Given the description of an element on the screen output the (x, y) to click on. 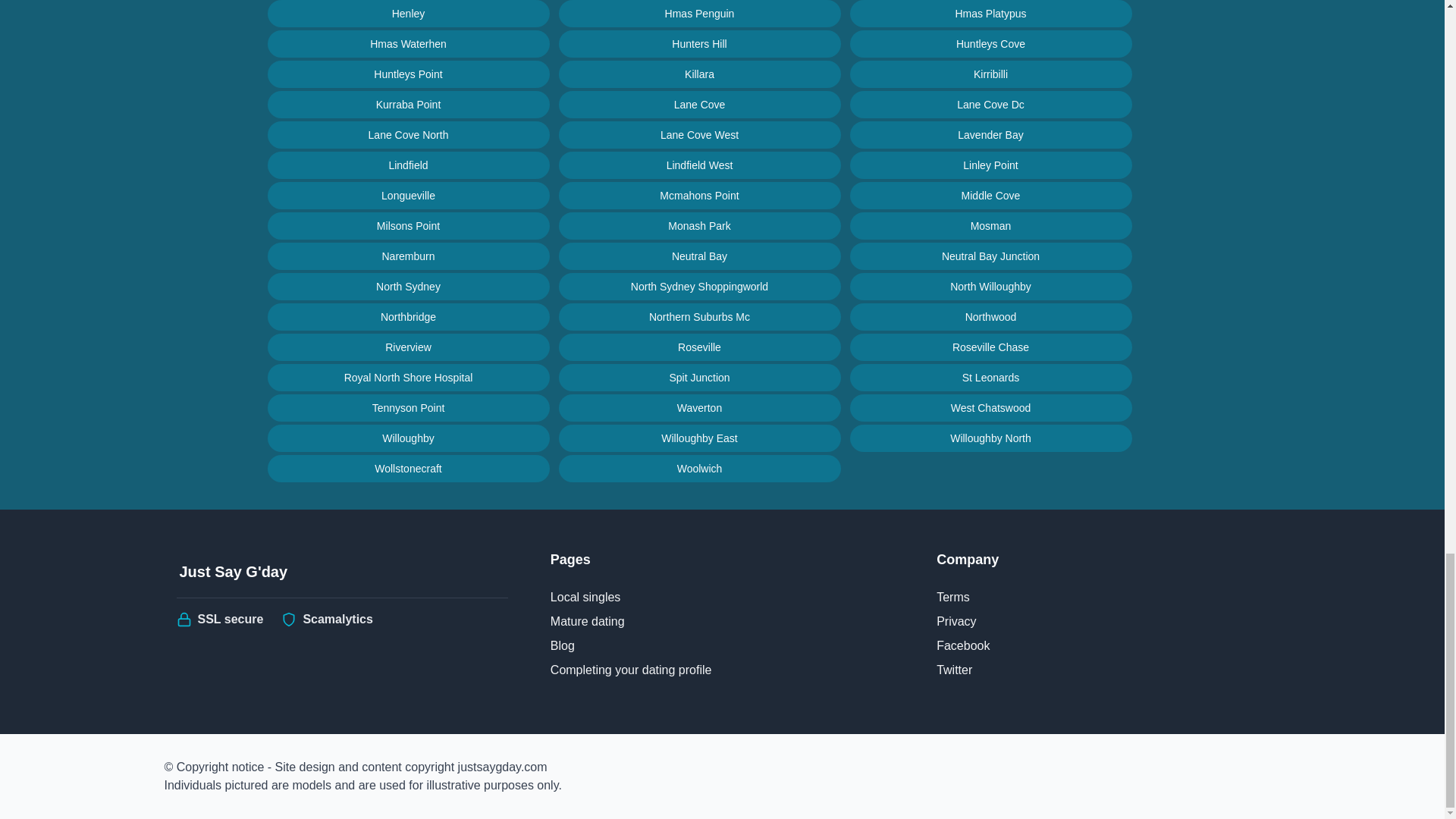
Singles in Henley (407, 13)
Kirribilli (989, 73)
Hmas Platypus (989, 13)
Huntleys Cove (989, 43)
Kurraba Point (407, 103)
Huntleys Point (407, 73)
Hunters Hill (698, 43)
Lane Cove (698, 103)
Killara (698, 73)
Hmas Penguin (698, 13)
Henley (407, 13)
Hmas Waterhen (407, 43)
